Given the description of an element on the screen output the (x, y) to click on. 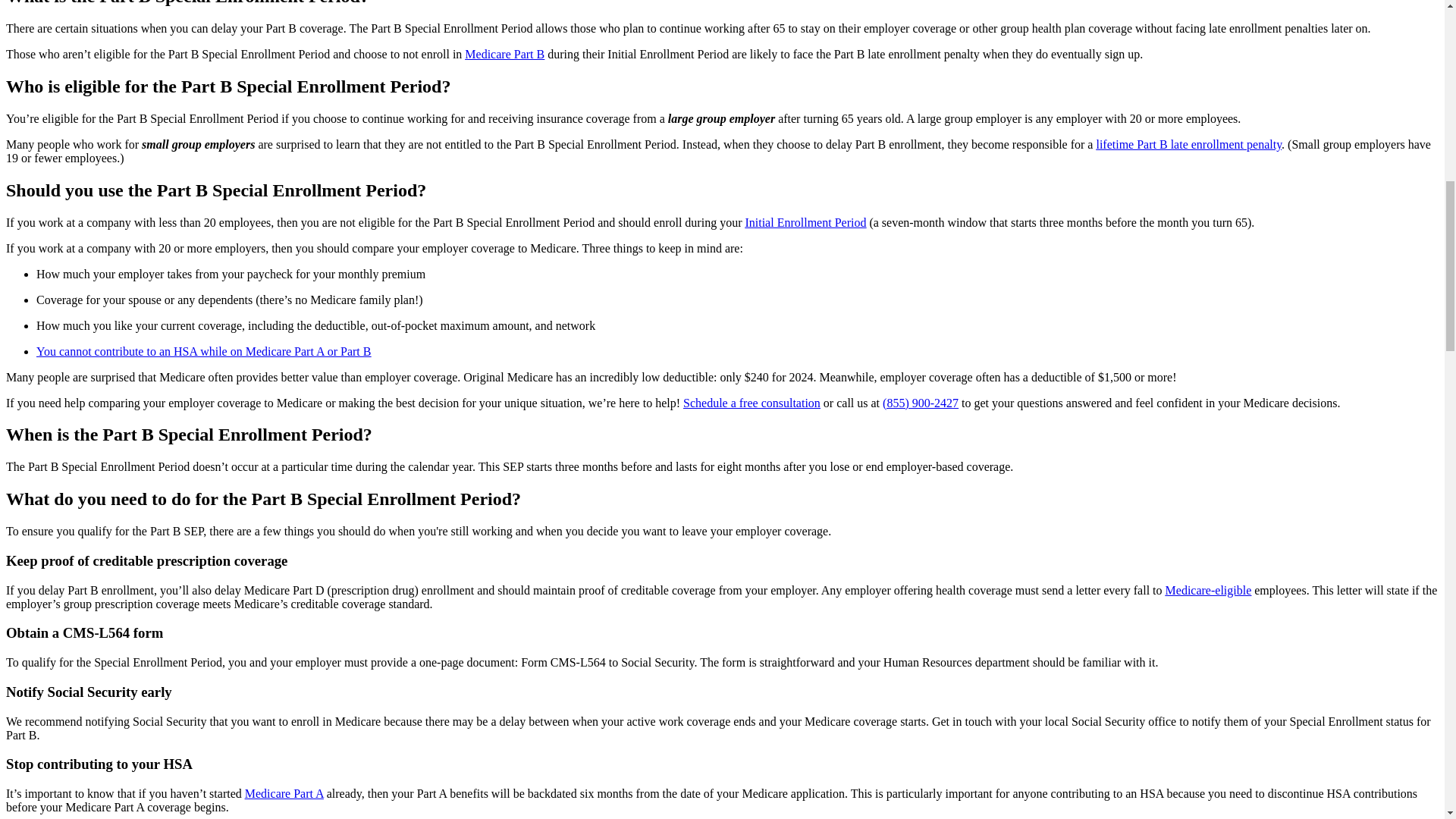
Medicare Part B (504, 53)
lifetime Part B late enrollment penalty (1188, 144)
Medicare Part A (283, 793)
Initial Enrollment Period (805, 222)
Medicare-eligible (1209, 590)
Schedule a free consultation (751, 402)
